Given the description of an element on the screen output the (x, y) to click on. 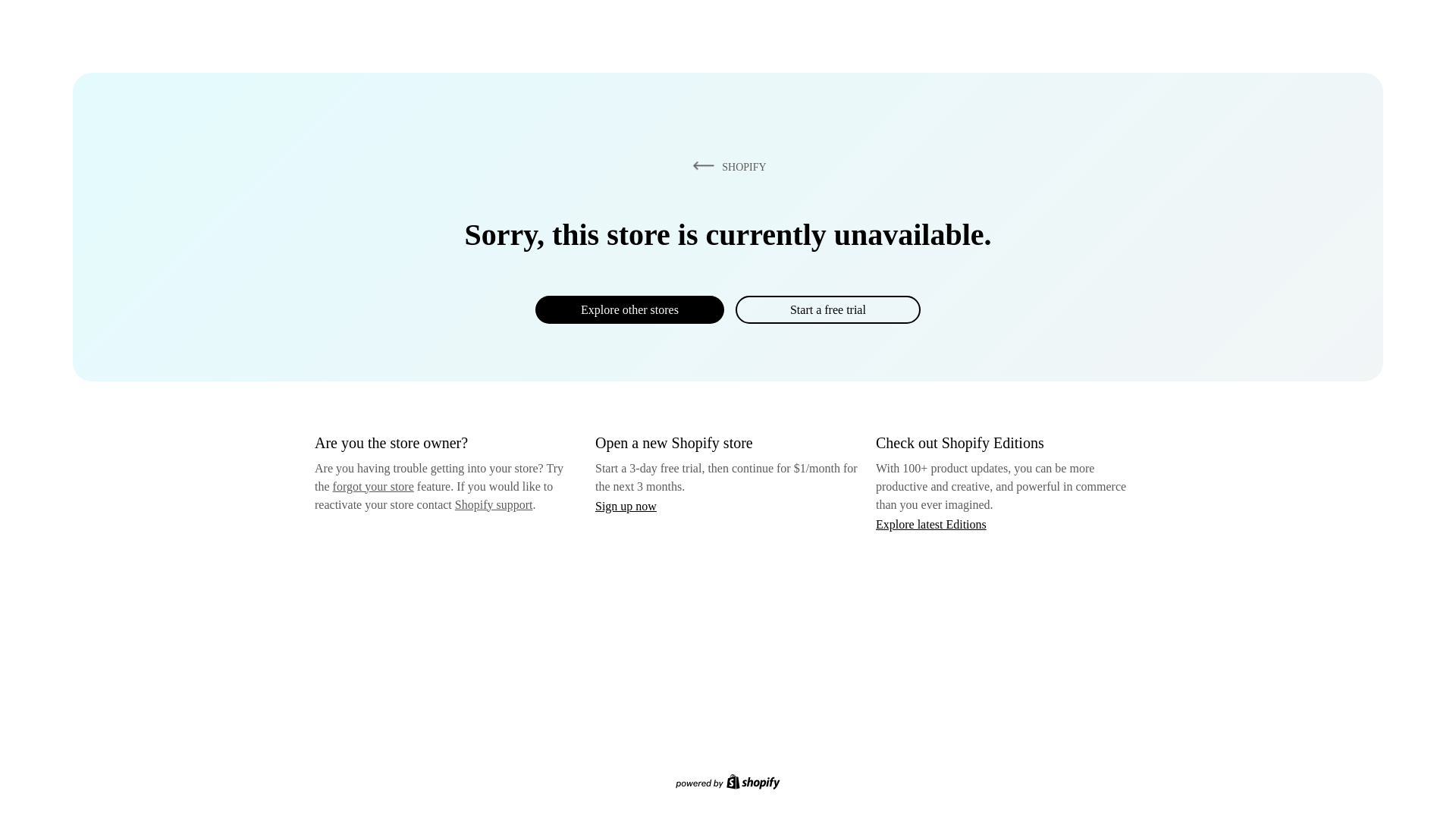
Start a free trial (827, 309)
Explore latest Editions (931, 523)
Explore other stores (629, 309)
Sign up now (625, 505)
Shopify support (493, 504)
forgot your store (373, 486)
SHOPIFY (726, 166)
